Given the description of an element on the screen output the (x, y) to click on. 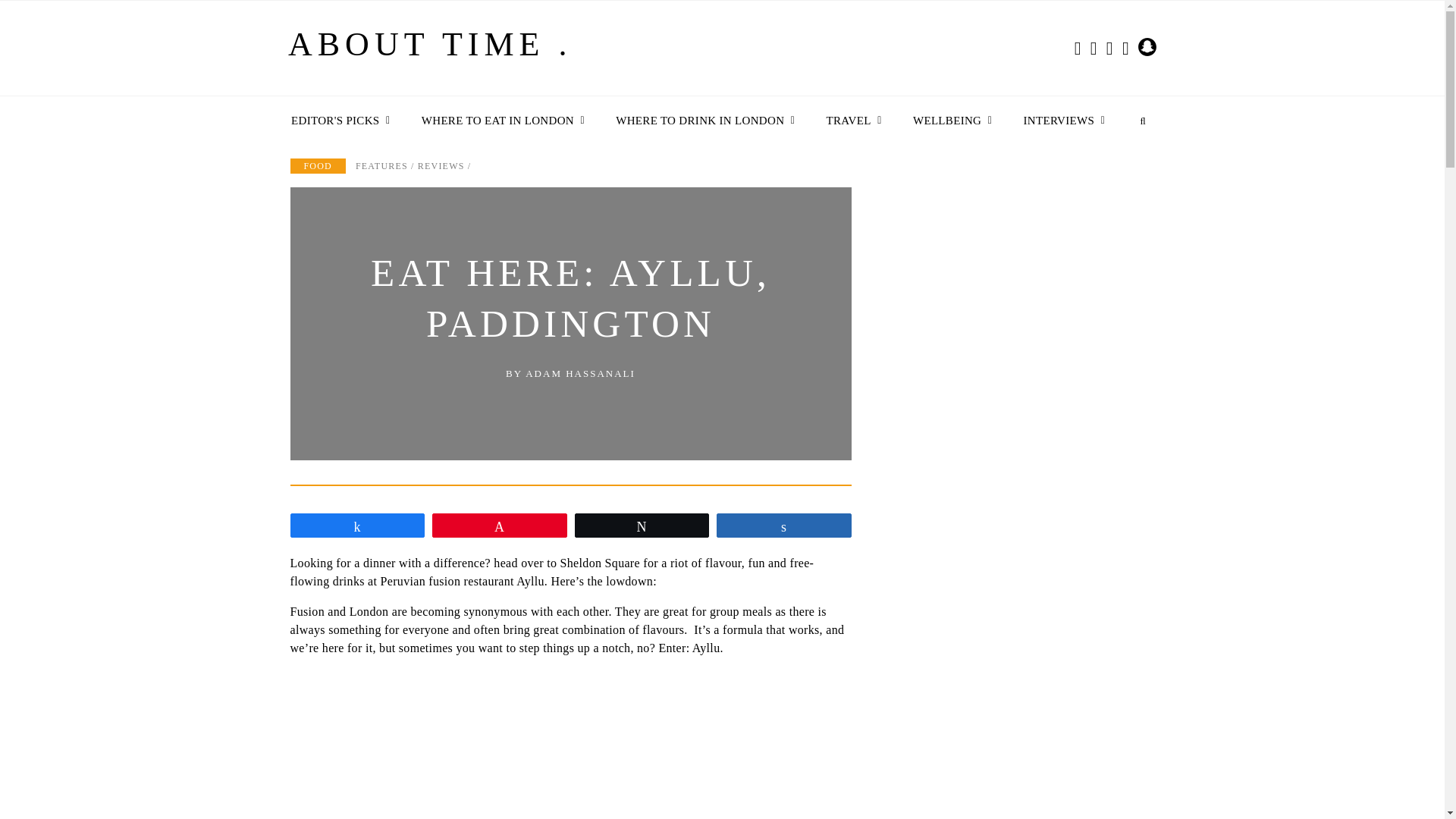
ABOUT TIME . (430, 51)
TRAVEL (849, 120)
Go to the Features category archives. (381, 165)
WHERE TO EAT IN LONDON (499, 120)
Go to the Reviews category archives. (440, 165)
Posts by Adam Hassanali (579, 373)
EDITOR'S PICKS (337, 120)
Go to the Food category archives. (316, 165)
WHERE TO DRINK IN LONDON (701, 120)
